Given the description of an element on the screen output the (x, y) to click on. 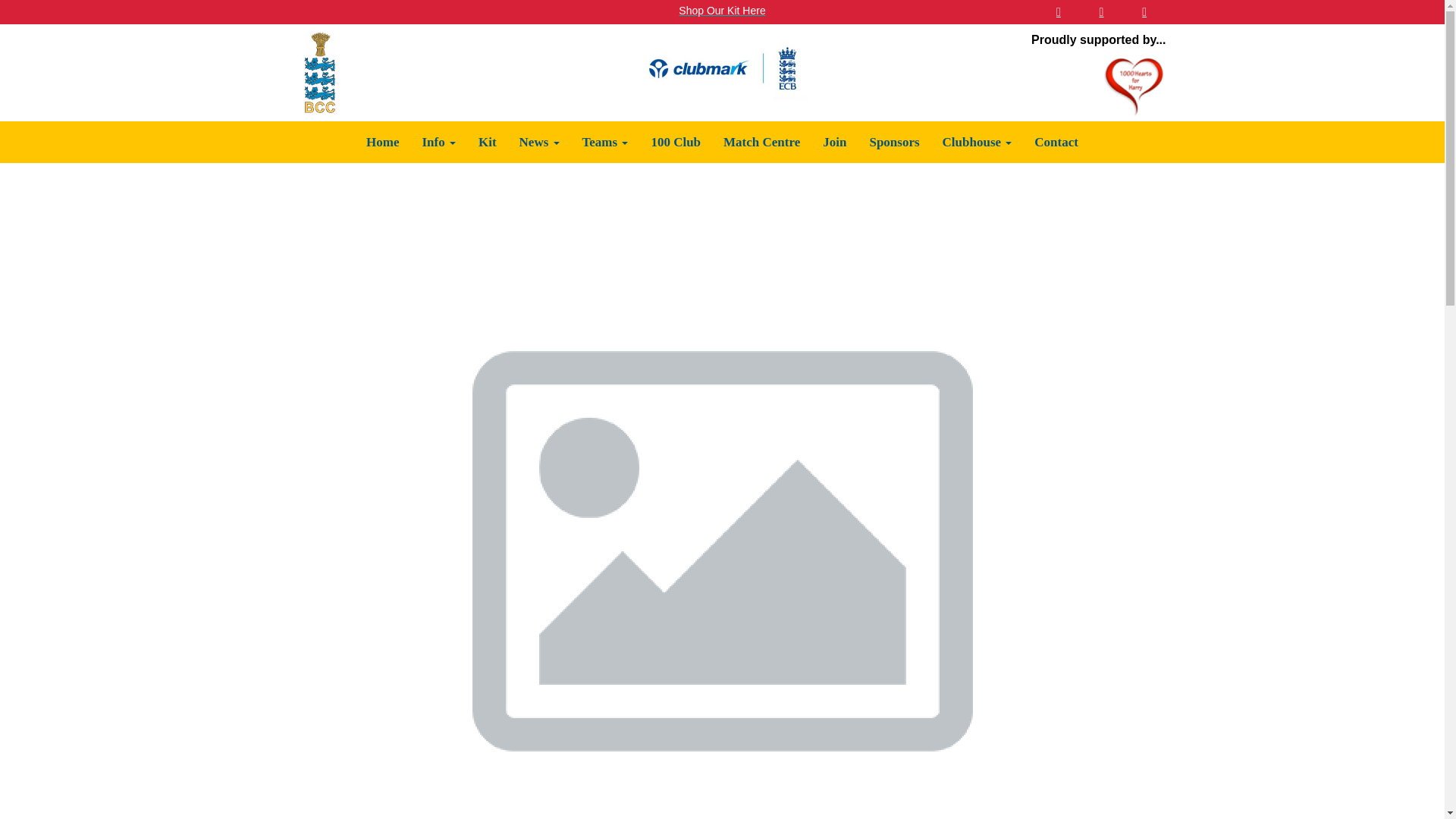
Teams (605, 142)
Match Centre (760, 142)
Sponsors (893, 142)
Home (382, 142)
Clubhouse (977, 142)
Shop Our Kit Here (721, 10)
100 Club (675, 142)
Join (833, 142)
News (539, 142)
Info (437, 142)
Kit (487, 142)
